Given the description of an element on the screen output the (x, y) to click on. 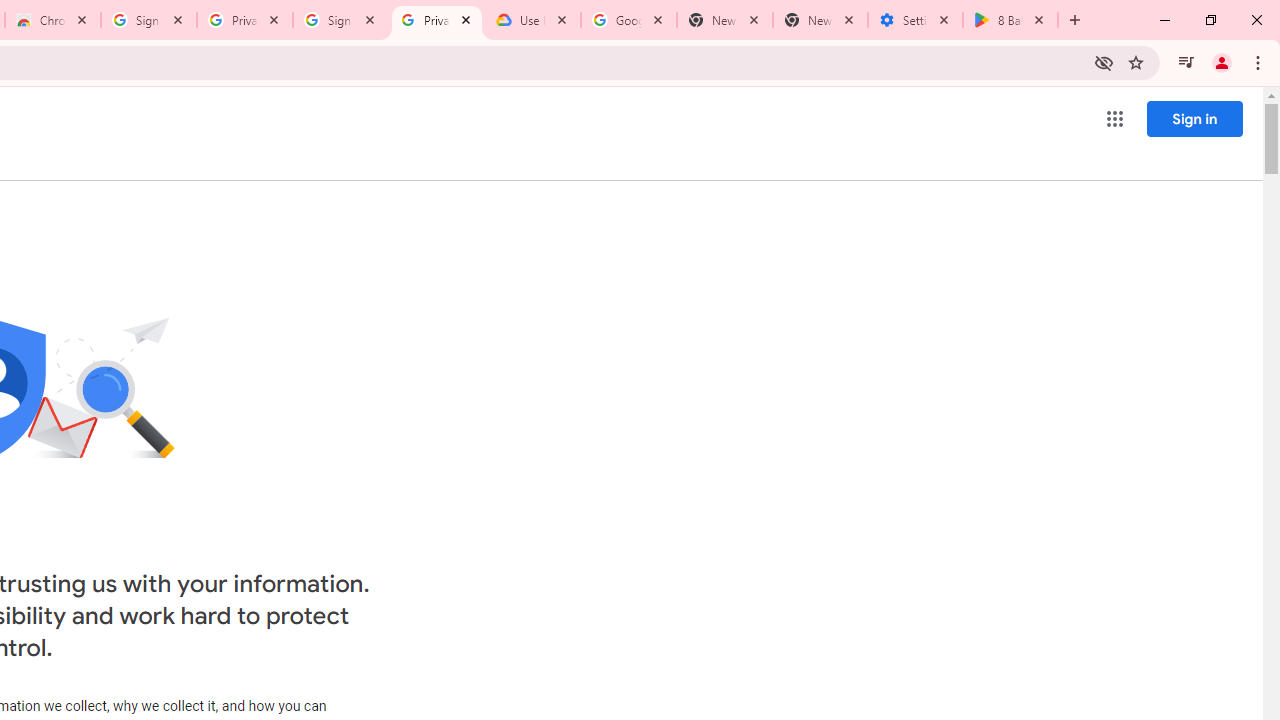
8 Ball Pool - Apps on Google Play (1010, 20)
